Given the description of an element on the screen output the (x, y) to click on. 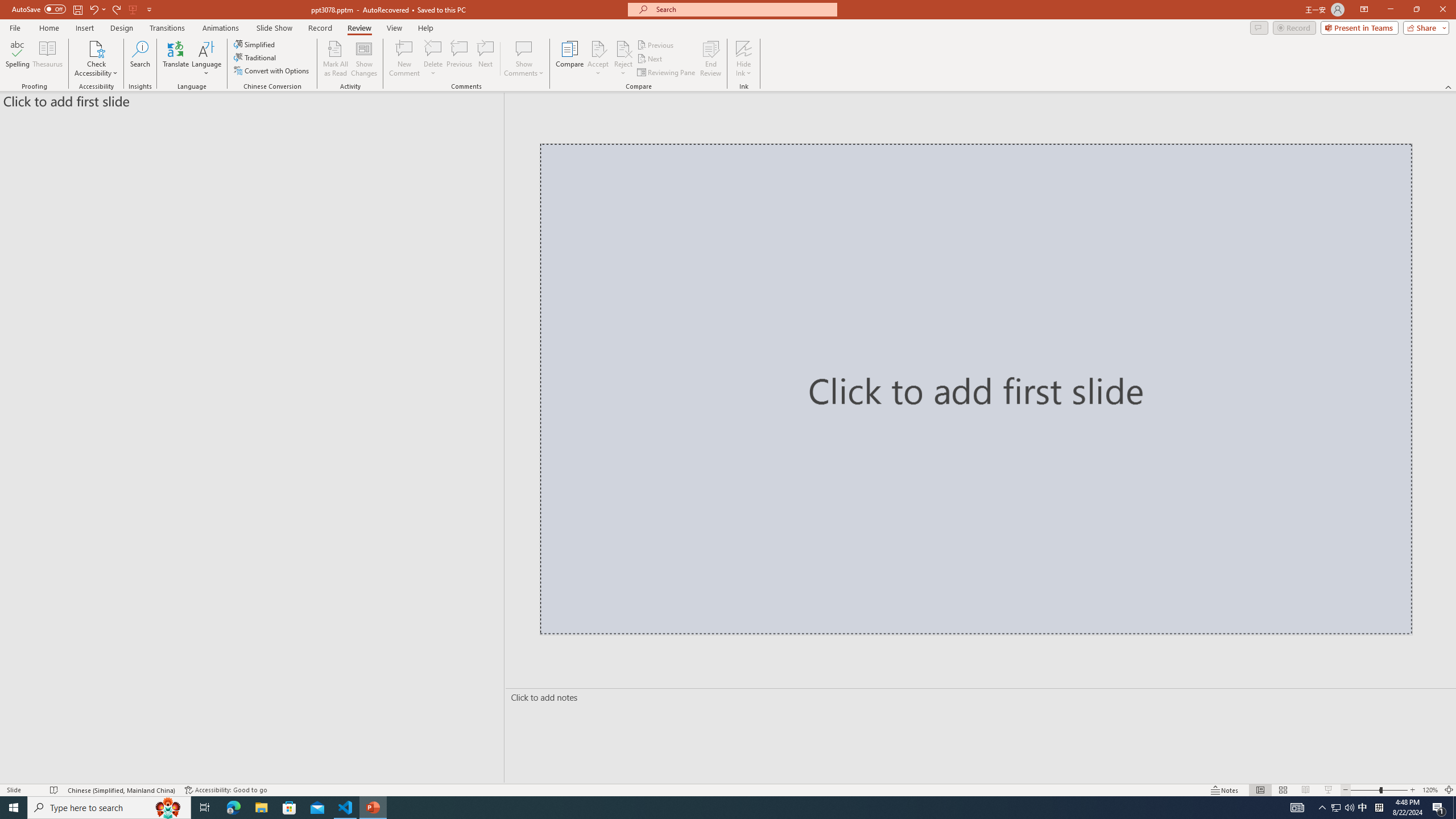
Check Accessibility (95, 48)
Outline (256, 99)
Show Comments (524, 58)
Next (649, 58)
